Given the description of an element on the screen output the (x, y) to click on. 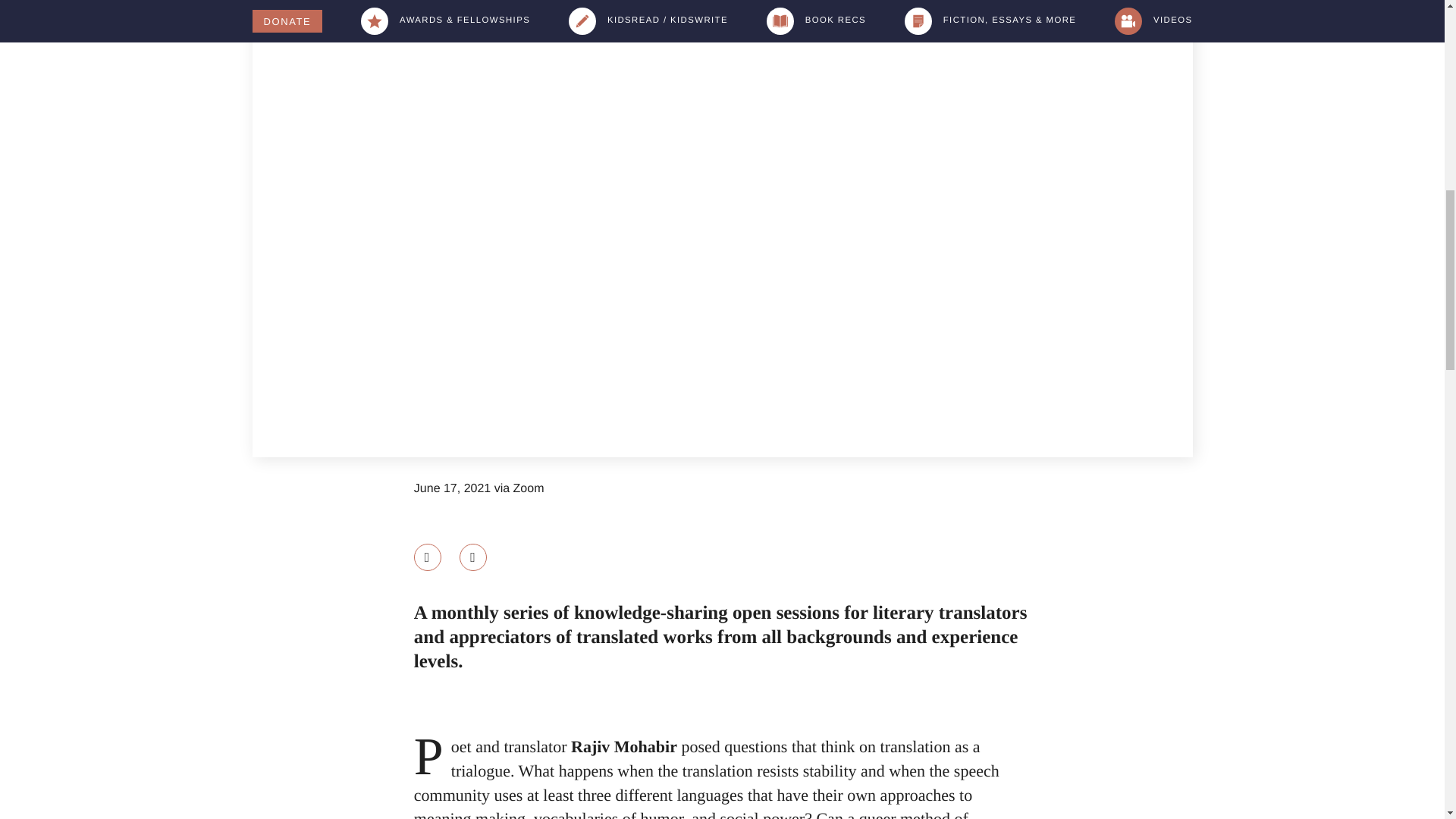
Opens in New Tab (473, 556)
Opens in New Tab (427, 556)
